Given the description of an element on the screen output the (x, y) to click on. 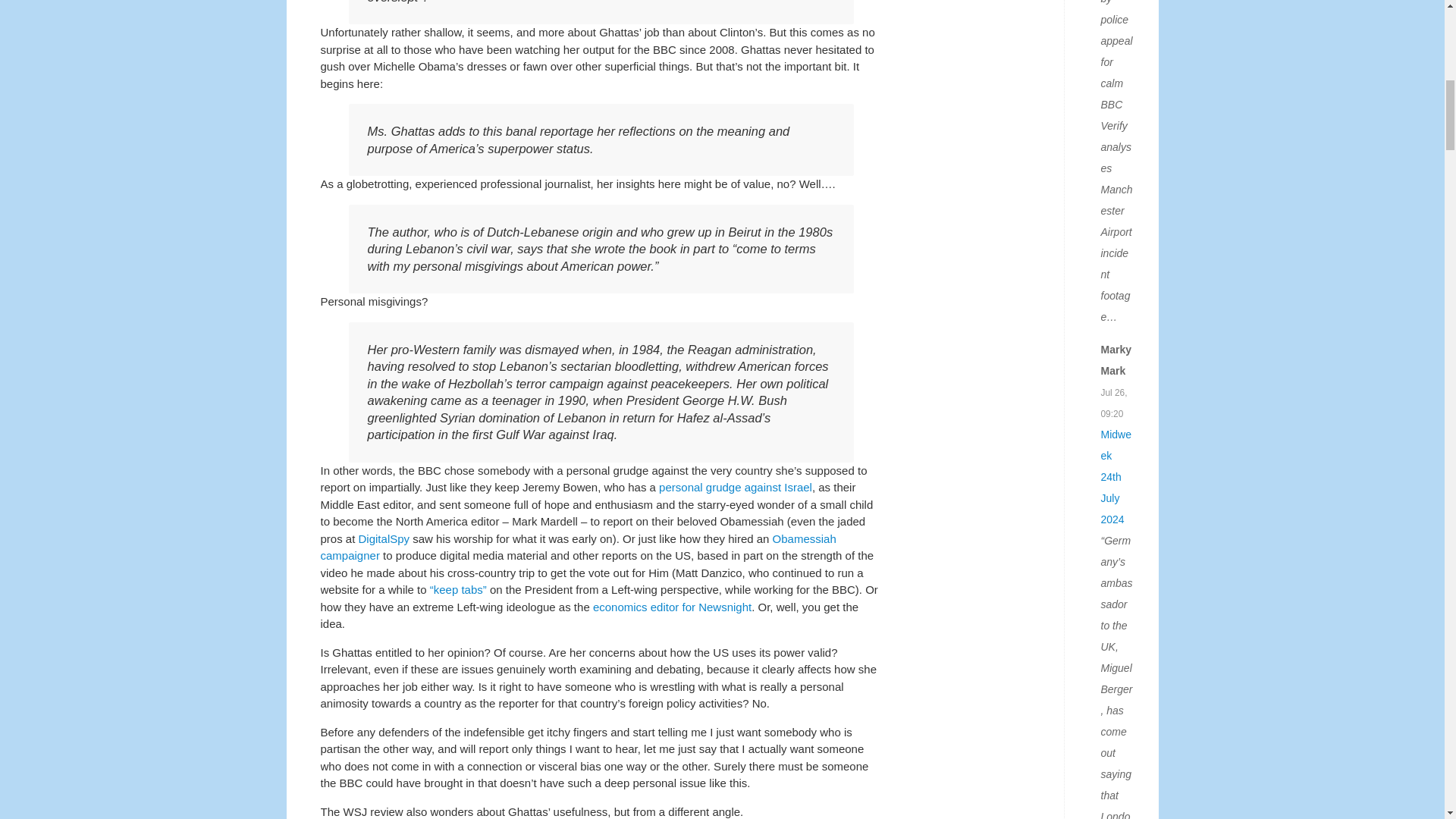
DigitalSpy (384, 538)
economics editor for Newsnight (671, 606)
Obamessiah campaigner (577, 547)
personal grudge against Israel (735, 486)
